Given the description of an element on the screen output the (x, y) to click on. 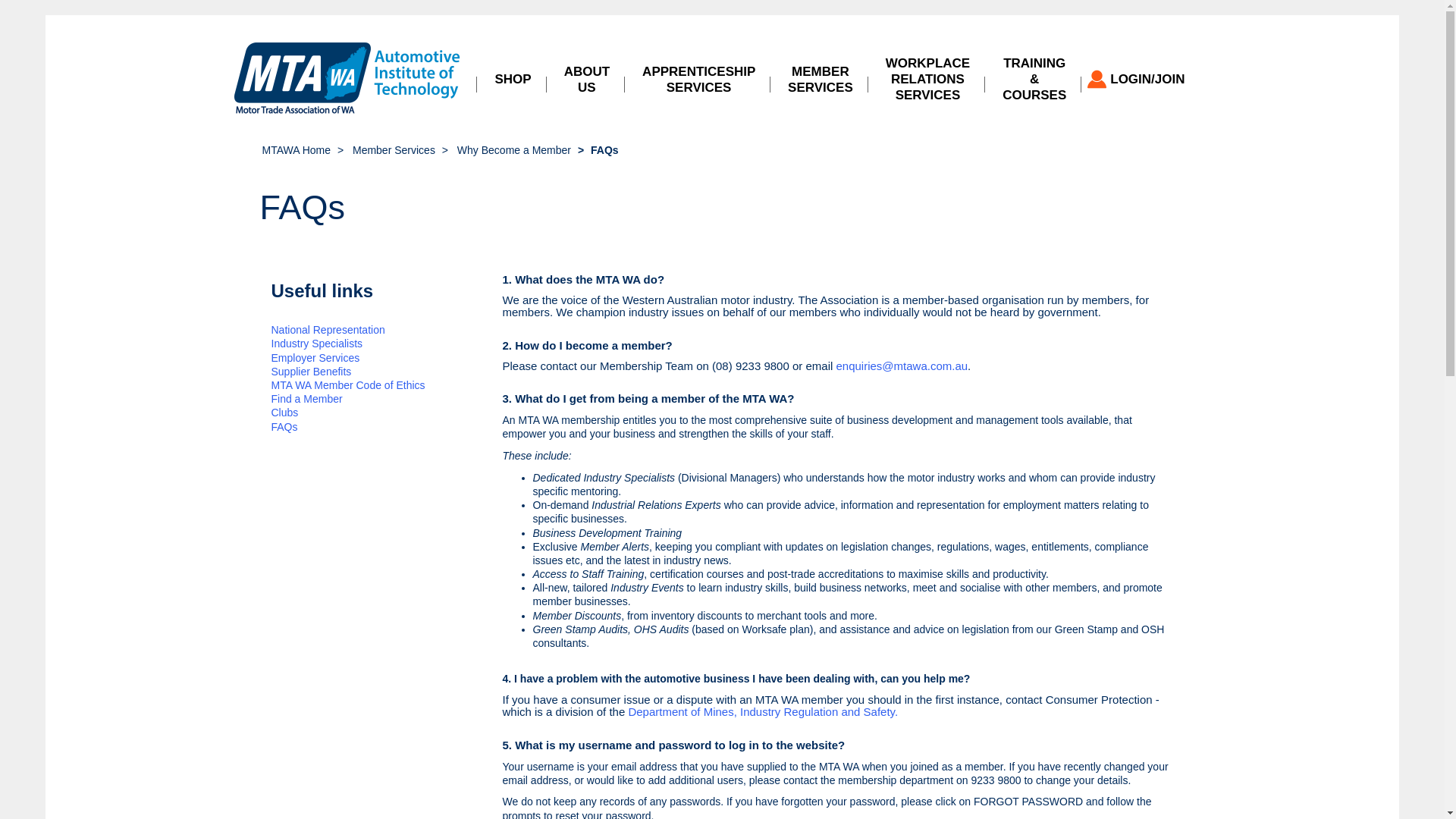
FAQs Element type: text (284, 426)
enquiries@mtawa.com.au Element type: text (901, 365)
APPRENTICESHIP SERVICES Element type: text (698, 79)
Find a Member Element type: text (306, 398)
WORKPLACE RELATIONS SERVICES Element type: text (927, 78)
National Representation Element type: text (328, 329)
SHOP Element type: text (512, 79)
Industry Specialists Element type: text (317, 343)
MTAWA Home Element type: text (296, 150)
LOGIN/JOIN Element type: text (1141, 79)
Why Become a Member Element type: text (514, 150)
Clubs Element type: text (284, 412)
TRAINING & COURSES Element type: text (1034, 78)
Department of Mines, Industry Regulation and Safety. Element type: text (762, 711)
MTA WA Member Code of Ethics Element type: text (348, 385)
Supplier Benefits Element type: text (311, 371)
Employer Services Element type: text (315, 357)
MEMBER SERVICES Element type: text (820, 79)
Member Services Element type: text (393, 150)
ABOUT US Element type: text (586, 79)
Home Element type: hover (347, 79)
